Given the description of an element on the screen output the (x, y) to click on. 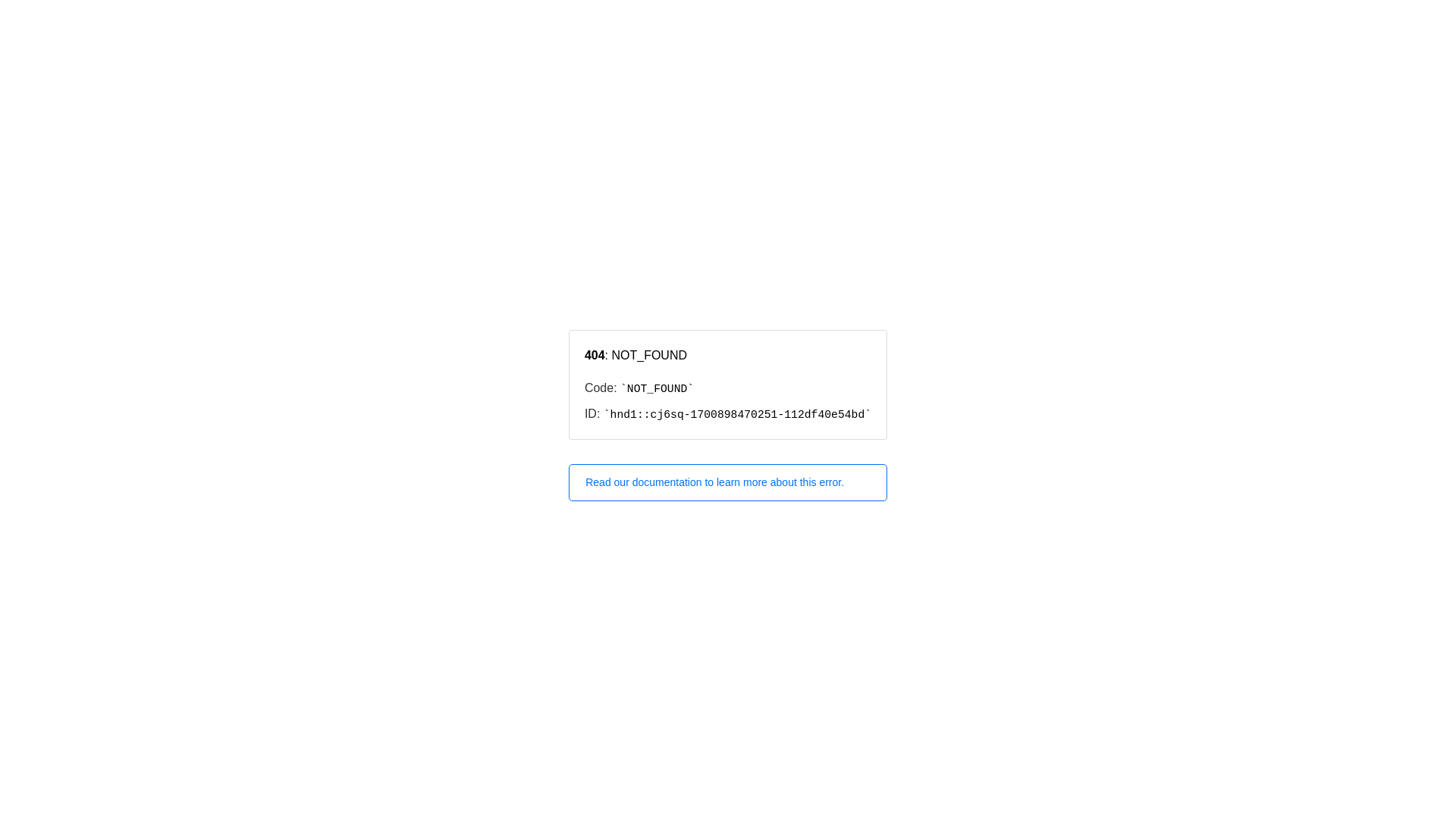
Read our documentation to learn more about this error. Element type: text (727, 482)
